Given the description of an element on the screen output the (x, y) to click on. 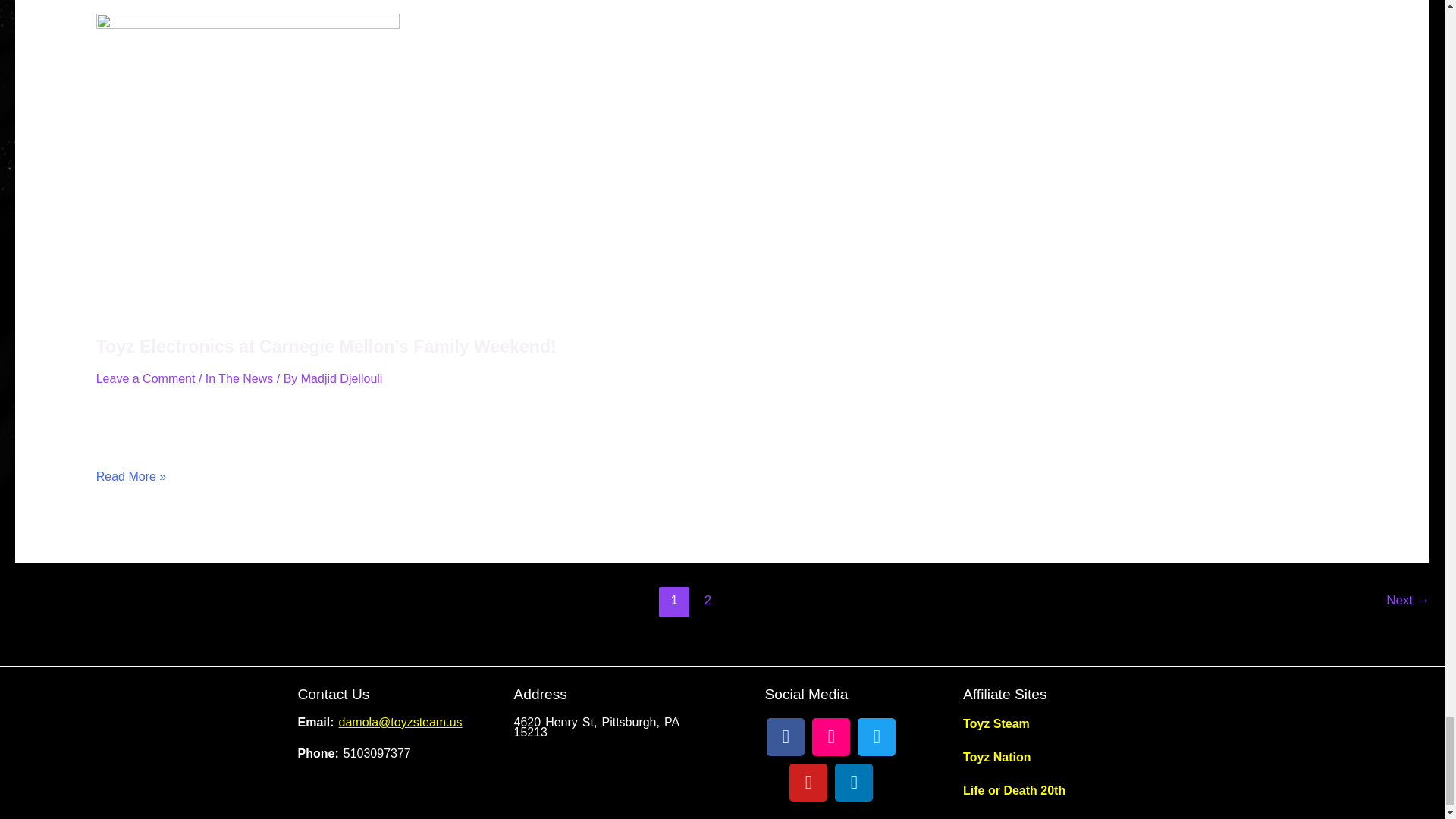
4620 Henry St, Pittsburgh, PA 15213 (613, 790)
View all posts by Madjid Djellouli (341, 378)
